Given the description of an element on the screen output the (x, y) to click on. 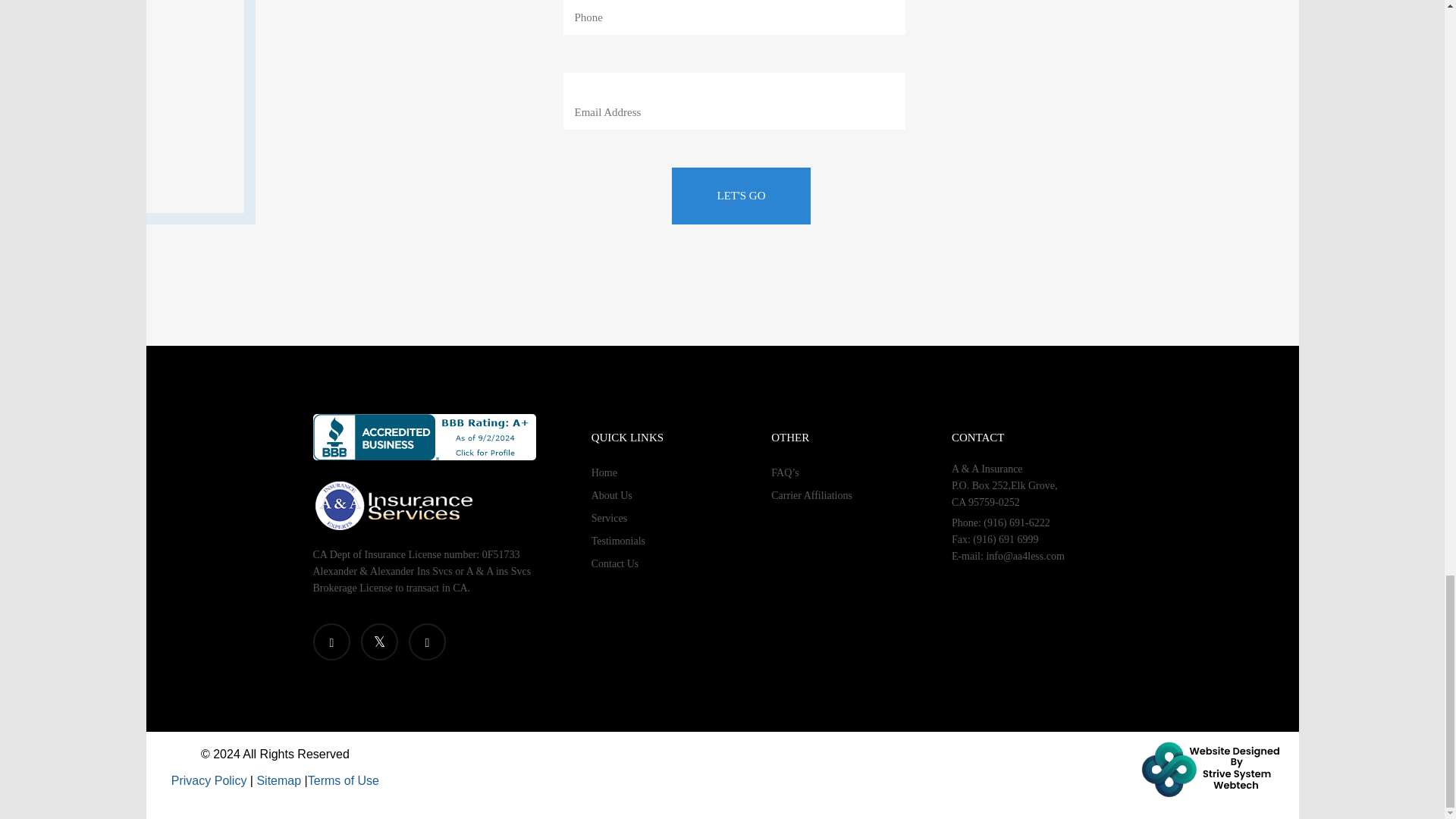
LinkedIn (426, 641)
Services (609, 518)
Home (604, 472)
Testimonials (618, 541)
Facebook (331, 641)
Twitter (379, 641)
footer-logo (393, 505)
let's go (740, 195)
Contact Us (615, 563)
let's go (740, 195)
